Given the description of an element on the screen output the (x, y) to click on. 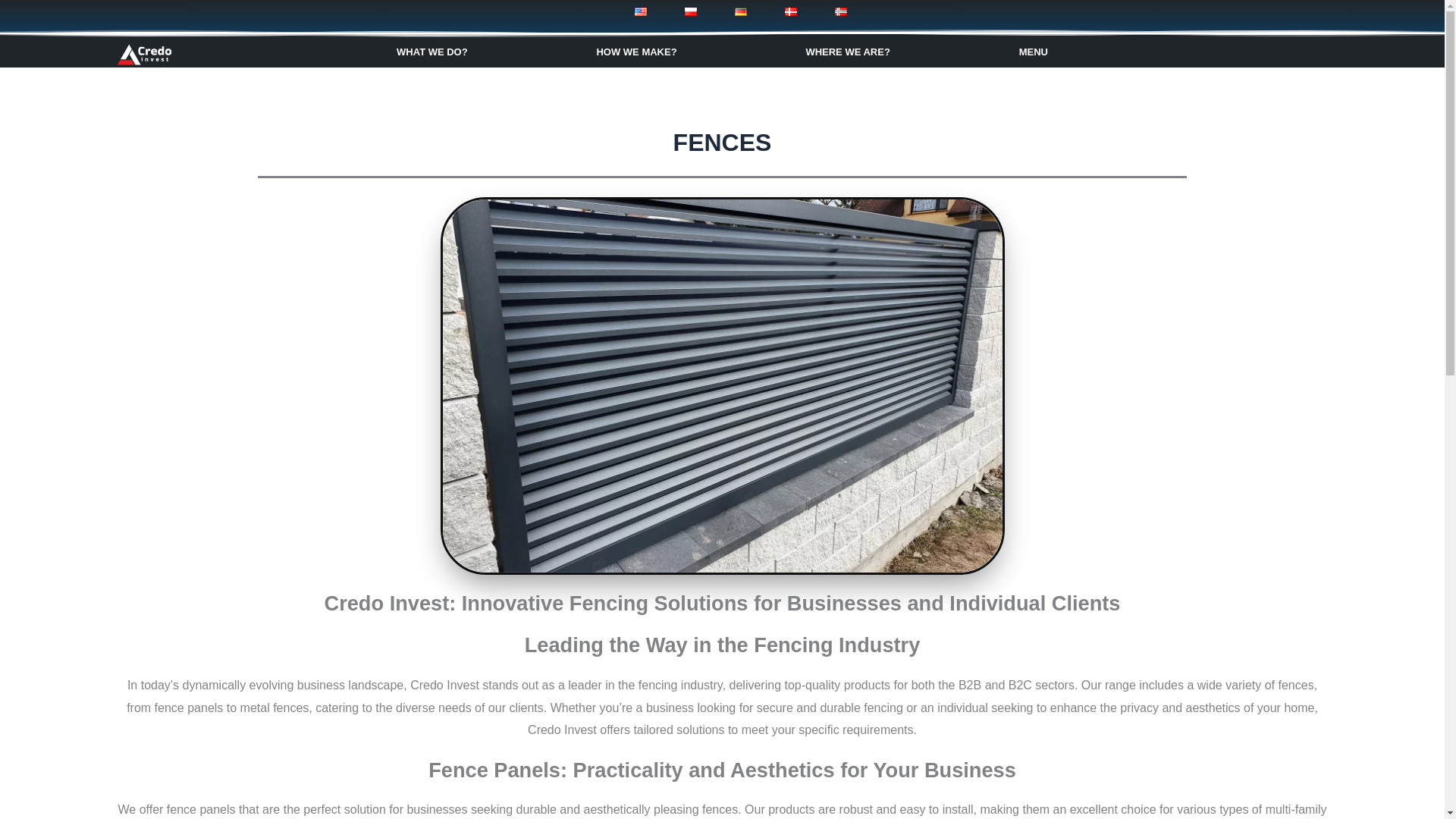
WHAT WE DO? (431, 51)
